Given the description of an element on the screen output the (x, y) to click on. 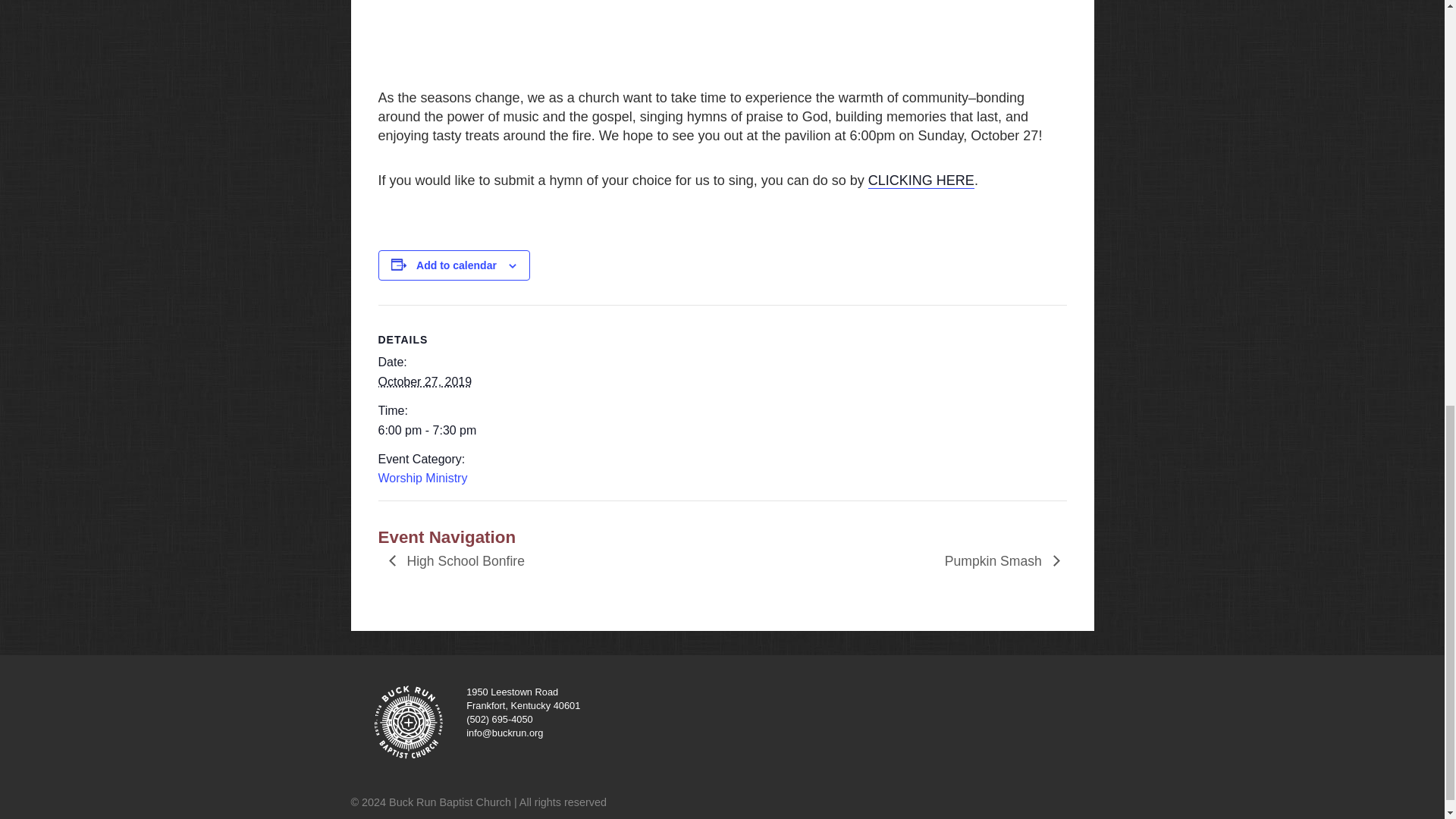
2019-10-27 (441, 430)
2019-10-27 (424, 381)
